Given the description of an element on the screen output the (x, y) to click on. 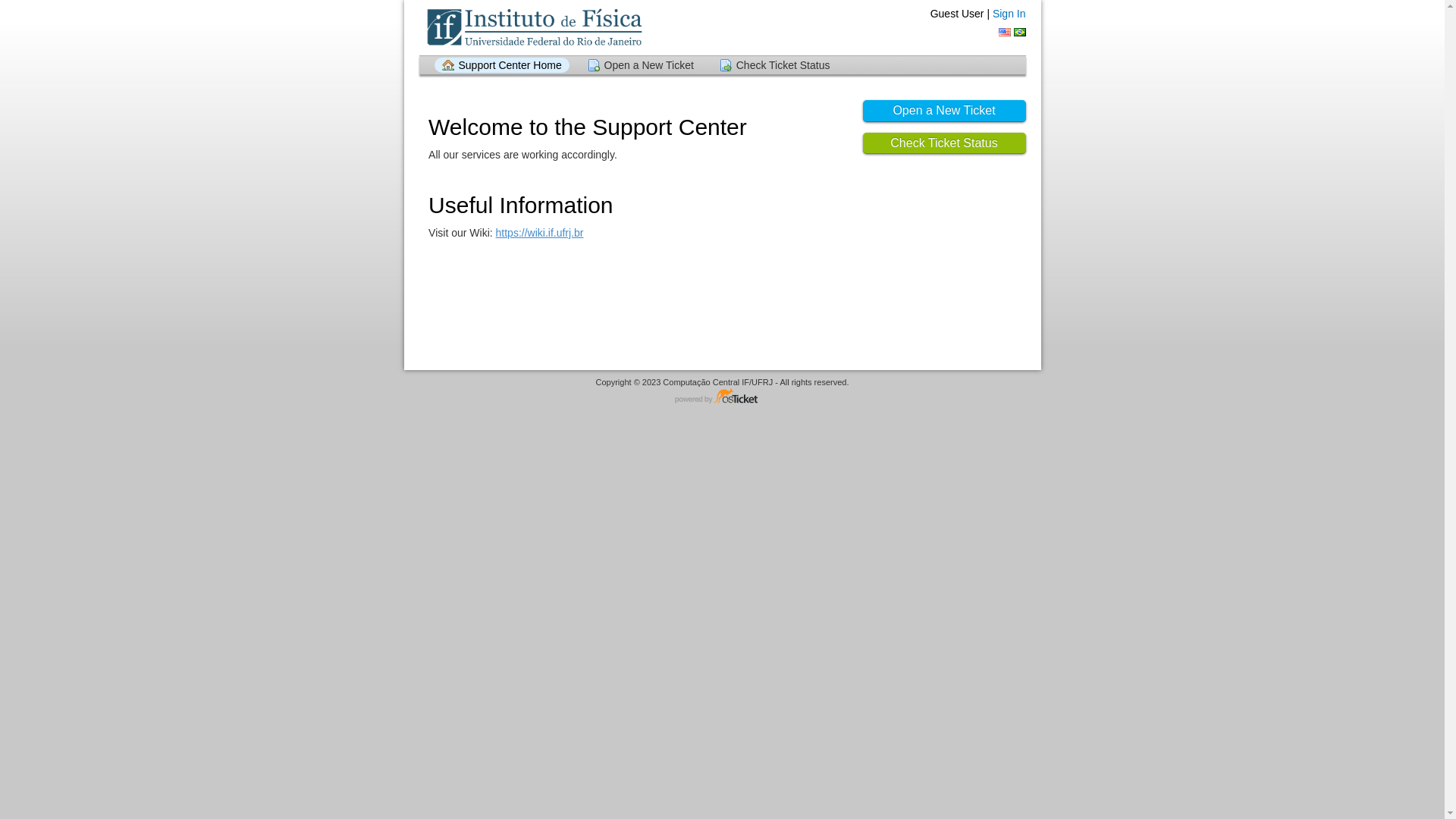
https://wiki.if.ufrj.br Element type: text (539, 232)
Support Center Home Element type: text (500, 64)
Support Center Element type: hover (533, 26)
Open a New Ticket Element type: text (640, 64)
Sign In Element type: text (1009, 13)
Helpdesk software - powered by osTicket Element type: text (722, 396)
  Element type: text (1019, 32)
Check Ticket Status Element type: text (944, 143)
Open a New Ticket Element type: text (944, 111)
Check Ticket Status Element type: text (774, 64)
English (United States) Element type: hover (1004, 32)
  Element type: text (1004, 32)
